Given the description of an element on the screen output the (x, y) to click on. 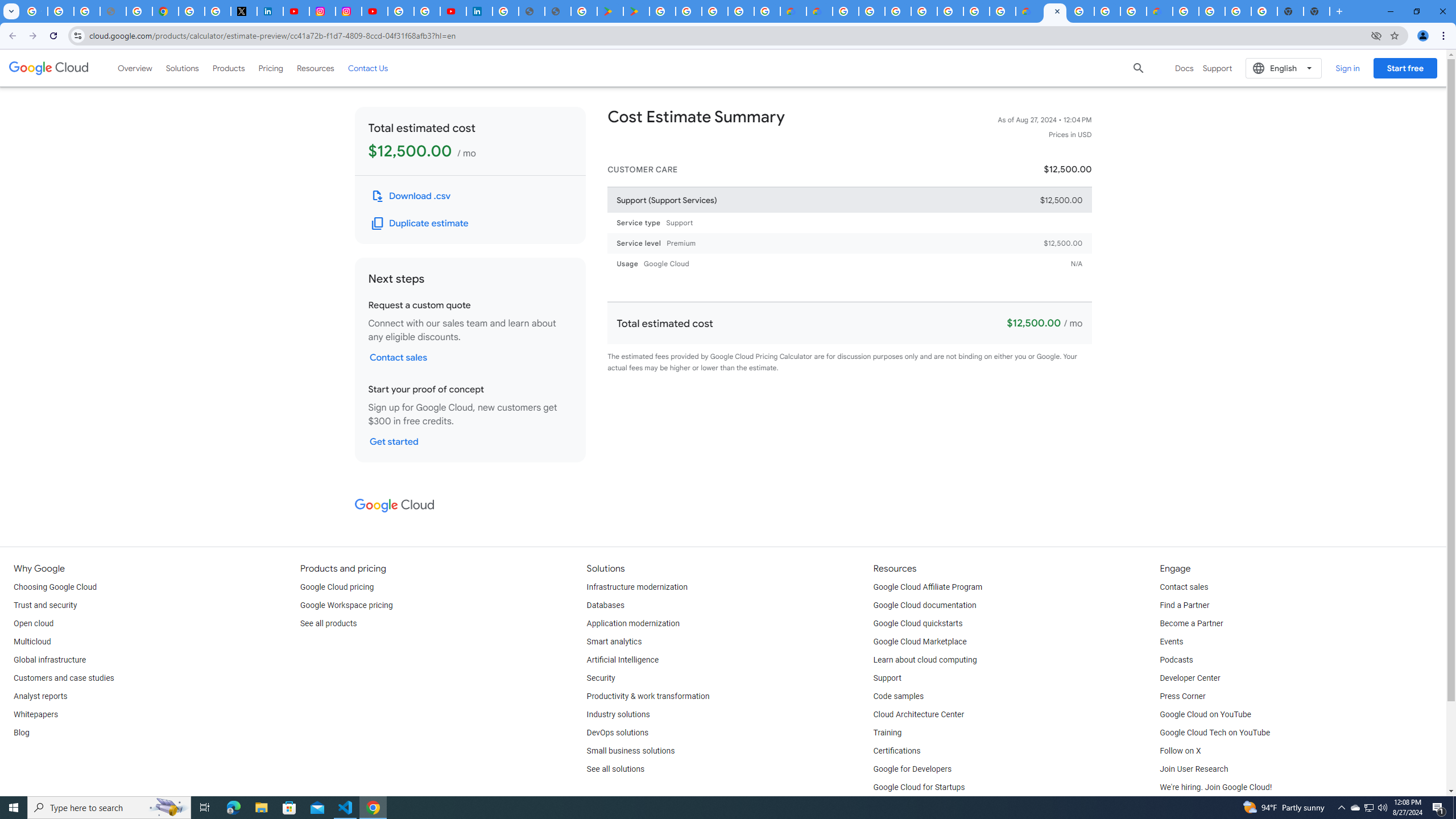
Google Cloud Marketplace (919, 642)
Start free (1405, 67)
DevOps solutions (617, 732)
LinkedIn Privacy Policy (269, 11)
We're hiring. Join Google Cloud! (1215, 787)
Events (1170, 642)
Trust and security (45, 605)
Google Cloud Platform (1211, 11)
Follow on X (1179, 751)
